Given the description of an element on the screen output the (x, y) to click on. 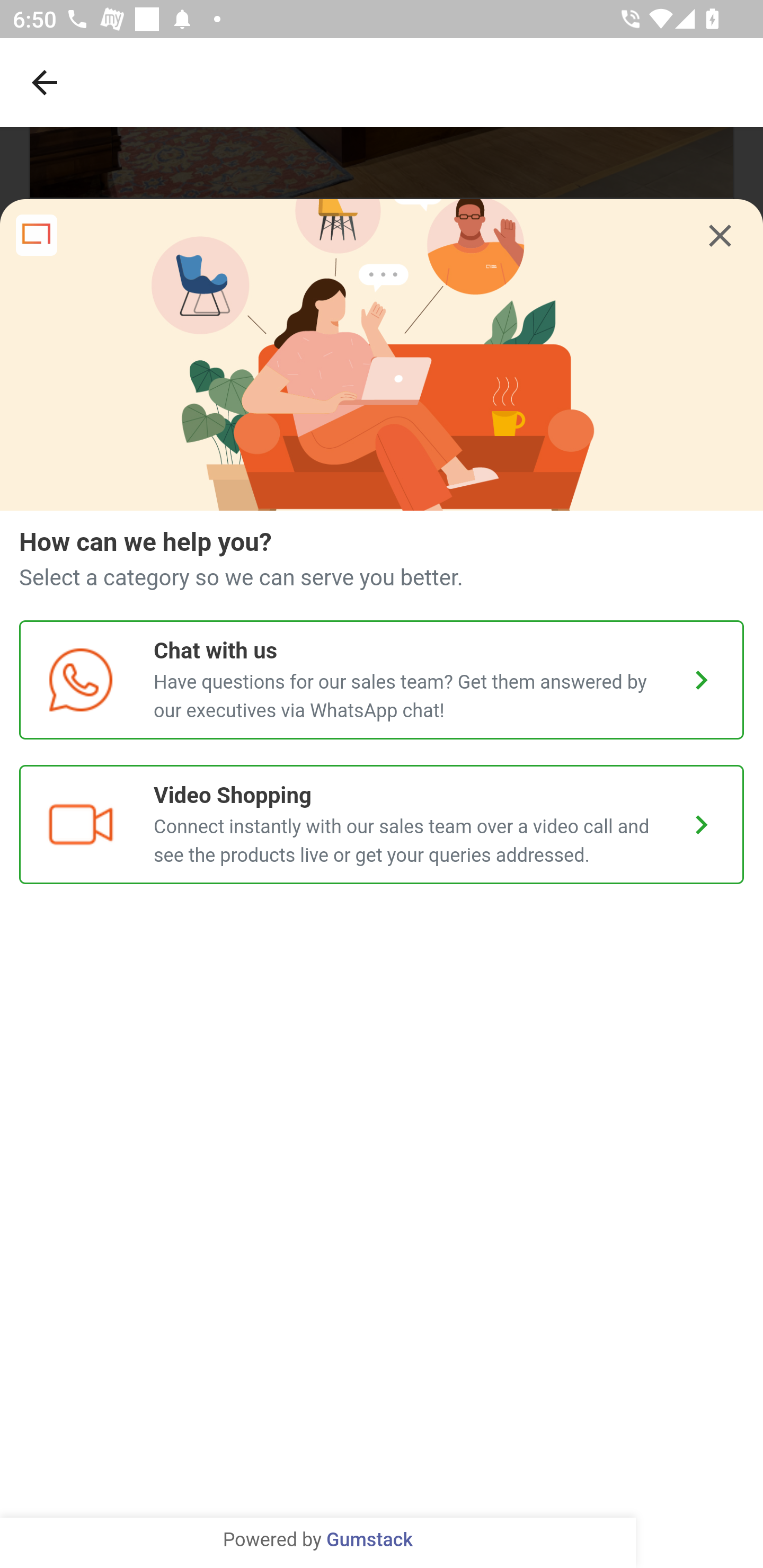
Navigate up (44, 82)
clear (720, 235)
VIEW DETAILS (381, 340)
Gumstack (369, 1540)
